Given the description of an element on the screen output the (x, y) to click on. 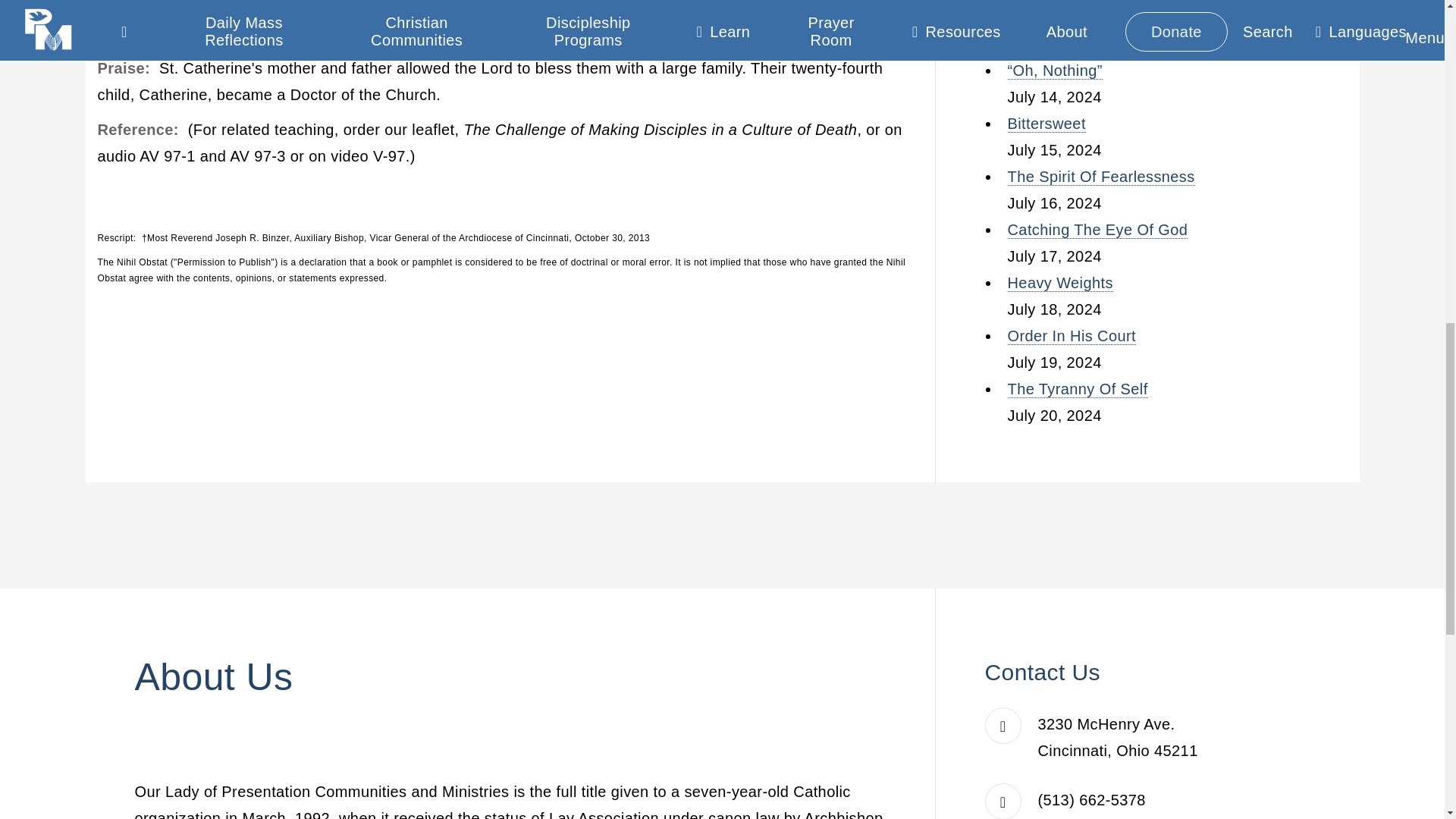
Jn 3:8 (553, 34)
Telephone (1091, 799)
